Given the description of an element on the screen output the (x, y) to click on. 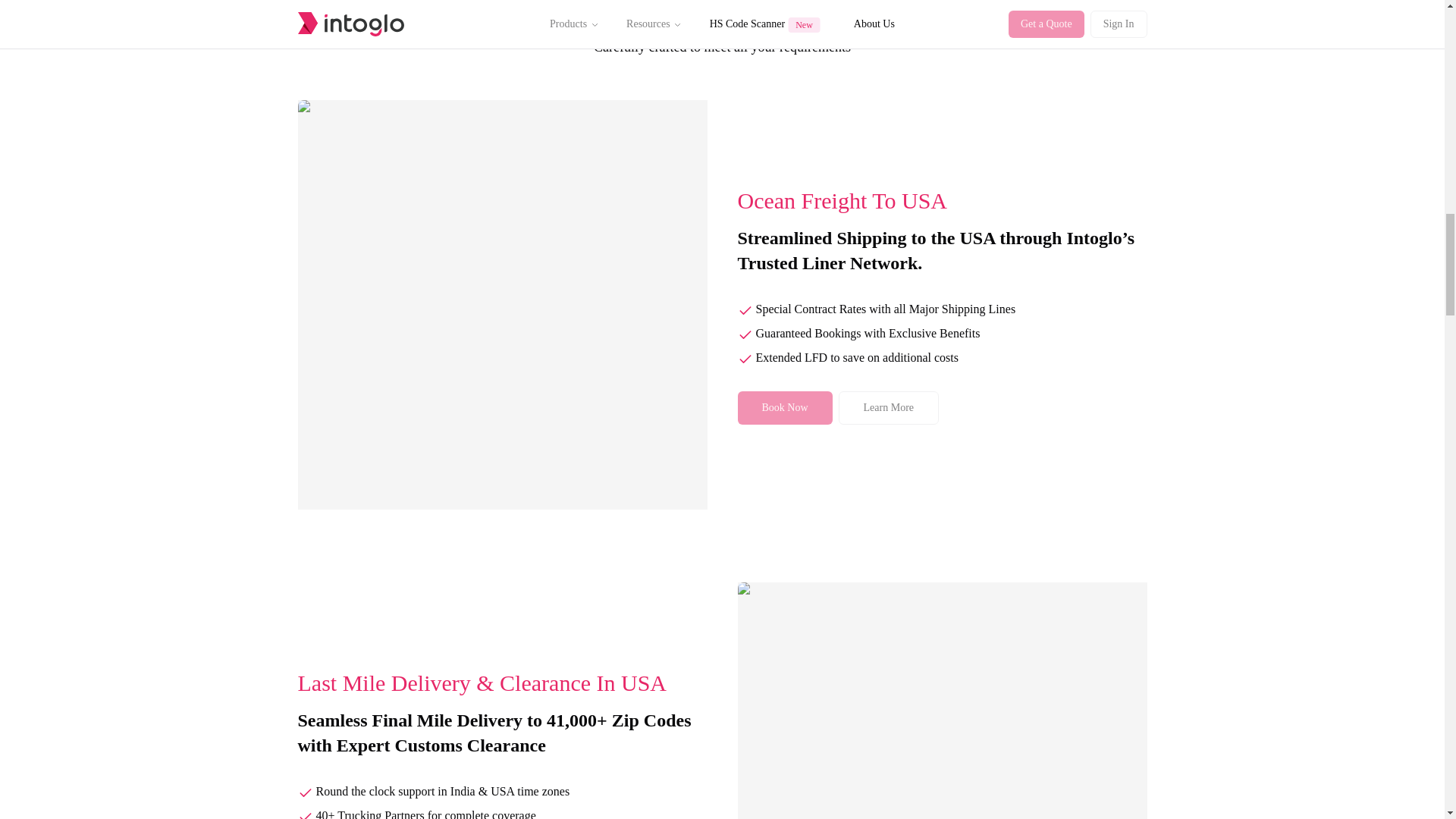
Learn More (888, 408)
Book Now (783, 408)
